Given the description of an element on the screen output the (x, y) to click on. 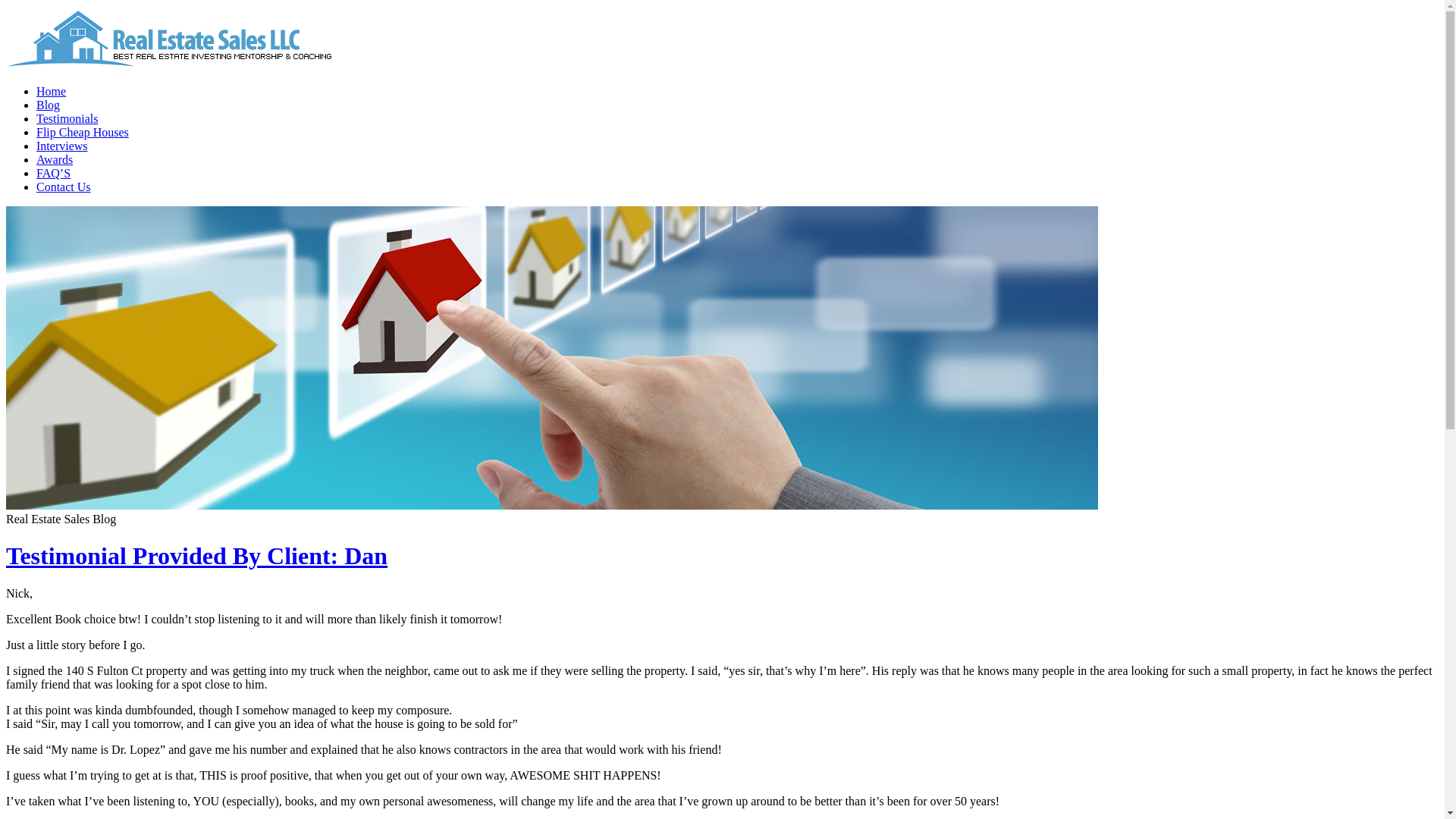
Awards (54, 159)
Testimonials (67, 118)
Home (50, 91)
Interviews (61, 145)
Flip Cheap Houses (82, 132)
Contact Us (63, 186)
Testimonial Provided By Client: Dan (196, 555)
Blog (47, 104)
